Given the description of an element on the screen output the (x, y) to click on. 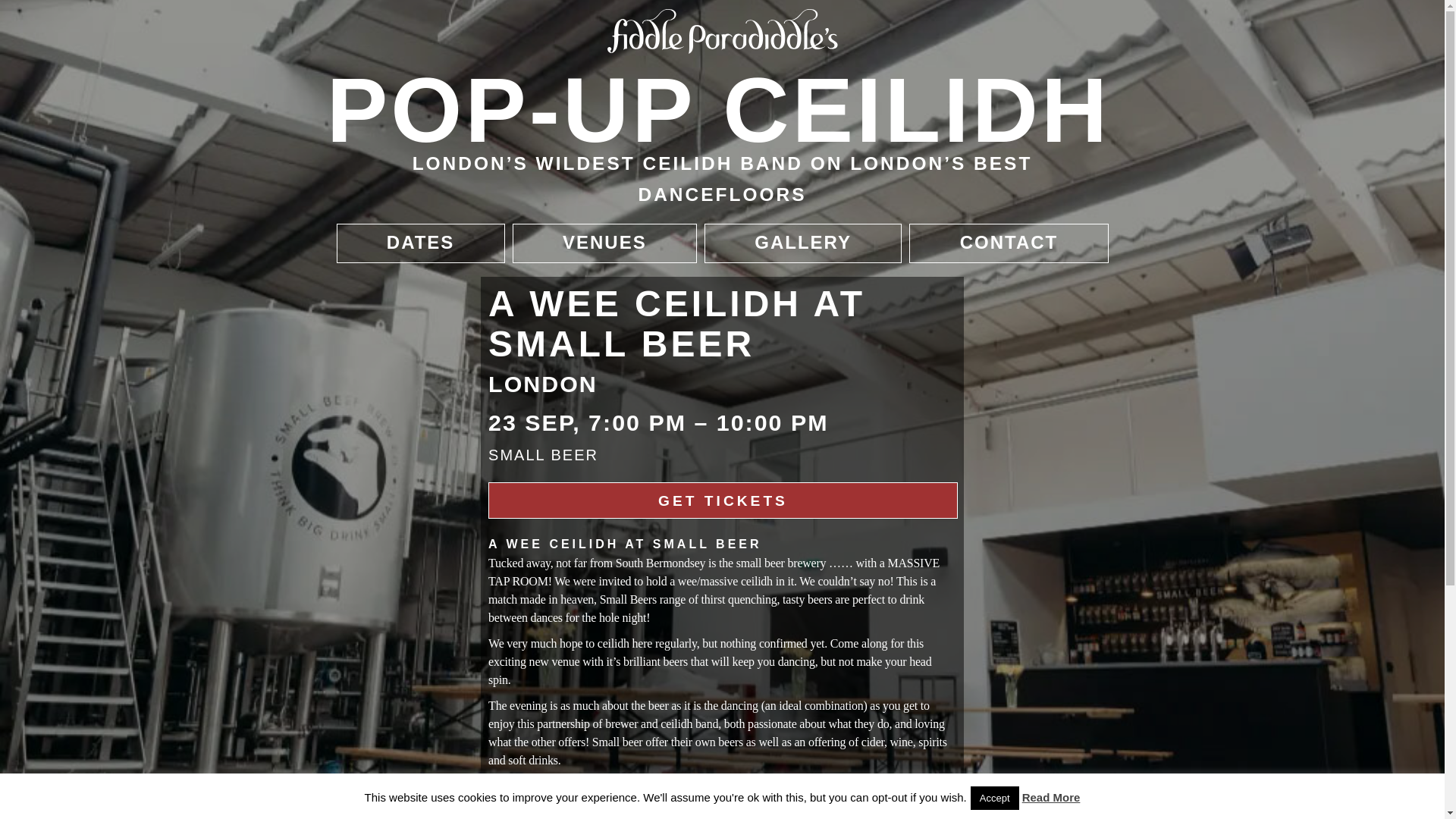
SMALL BEER (542, 454)
Skip to primary content (405, 232)
Skip to secondary content (415, 232)
GET TICKETS (721, 500)
Skip to primary content (405, 232)
Read More (1051, 797)
GALLERY (802, 242)
Skip to secondary content (415, 232)
DATES (420, 242)
Accept (995, 797)
